Given the description of an element on the screen output the (x, y) to click on. 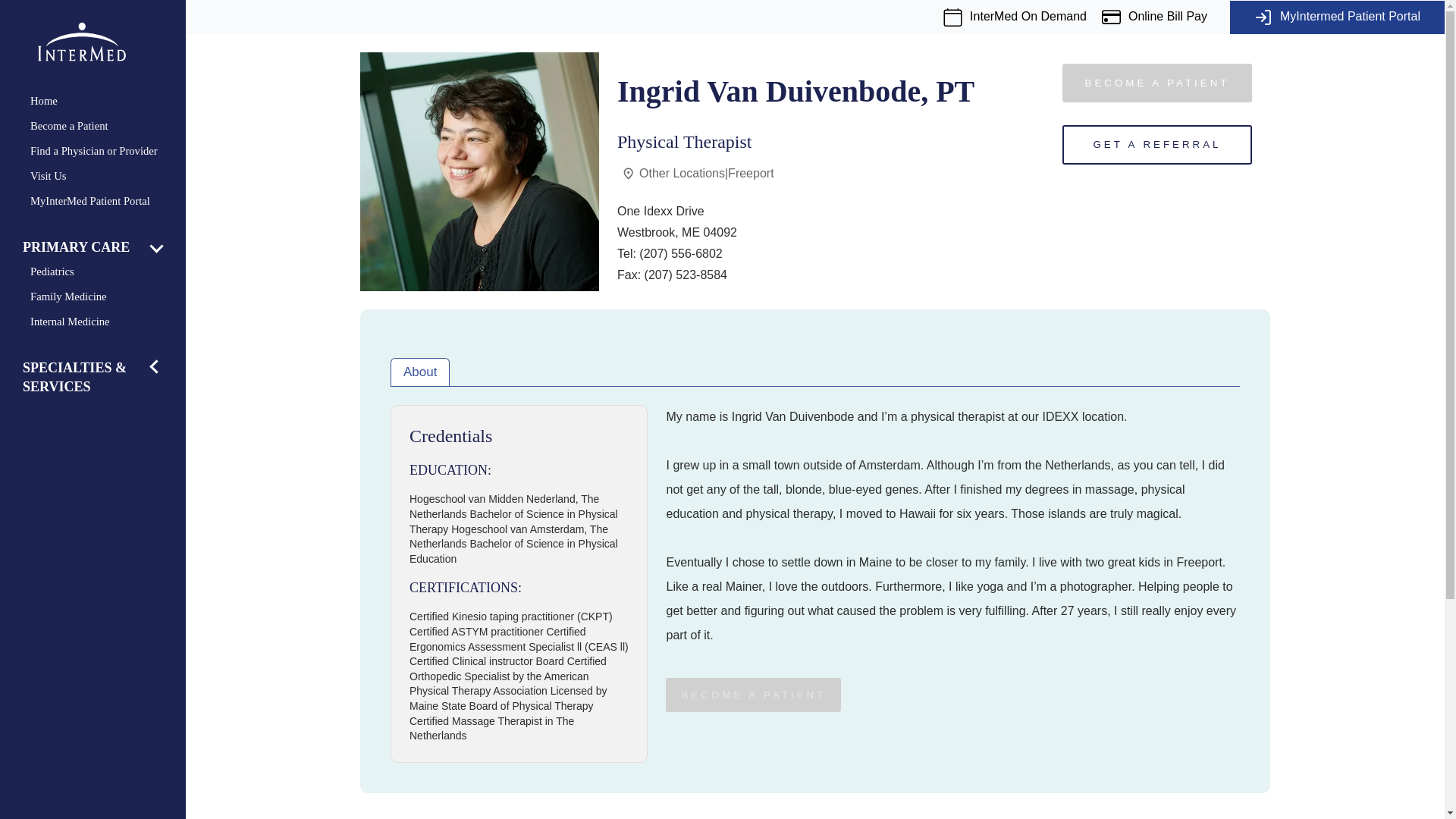
Home (102, 100)
Visit Us (102, 176)
Internal Medicine (102, 322)
Family Medicine (102, 296)
MyInterMed Patient Portal (102, 200)
Pediatrics (102, 271)
Become a Patient (102, 126)
Find a Physician or Provider (102, 150)
